Given the description of an element on the screen output the (x, y) to click on. 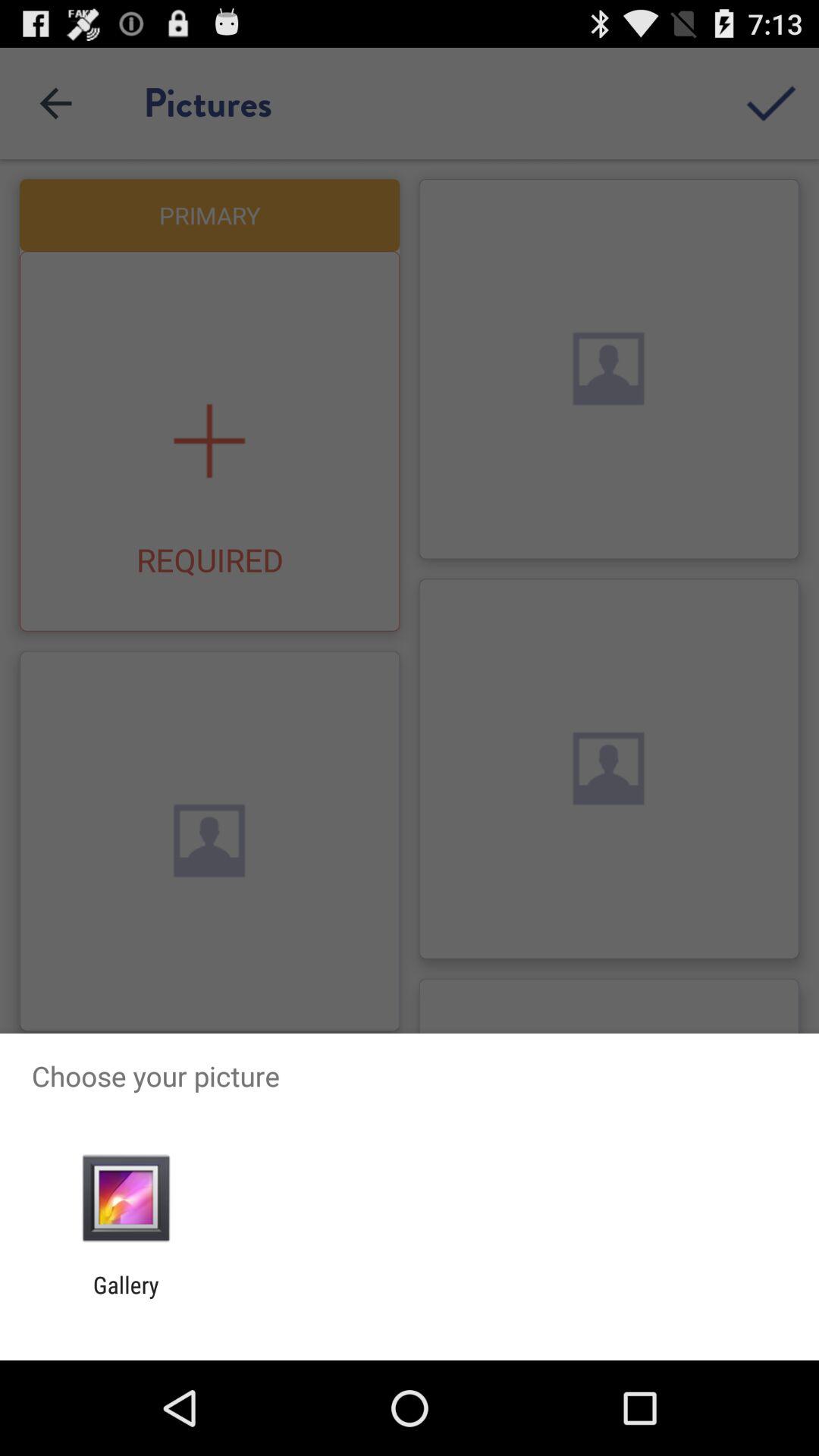
click gallery (126, 1298)
